Given the description of an element on the screen output the (x, y) to click on. 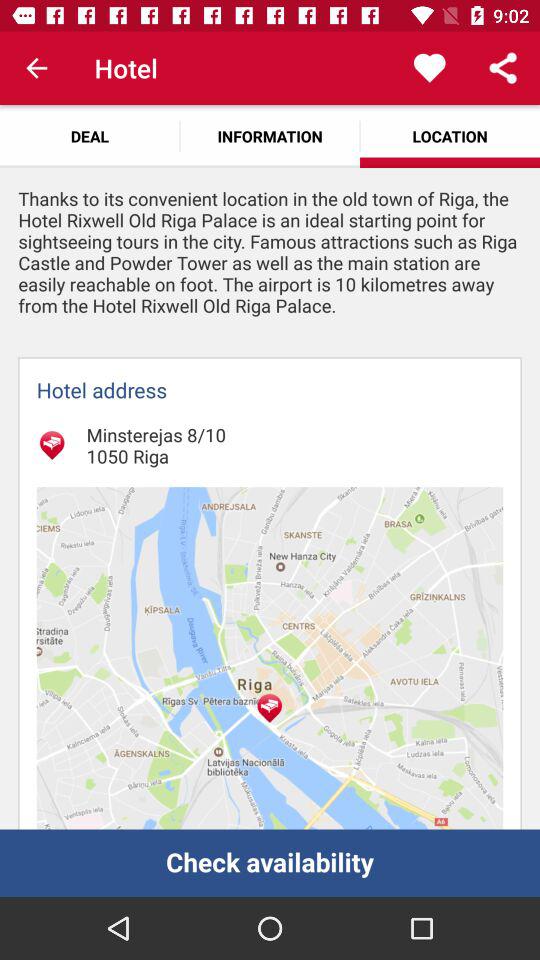
press the item above the deal item (36, 68)
